Given the description of an element on the screen output the (x, y) to click on. 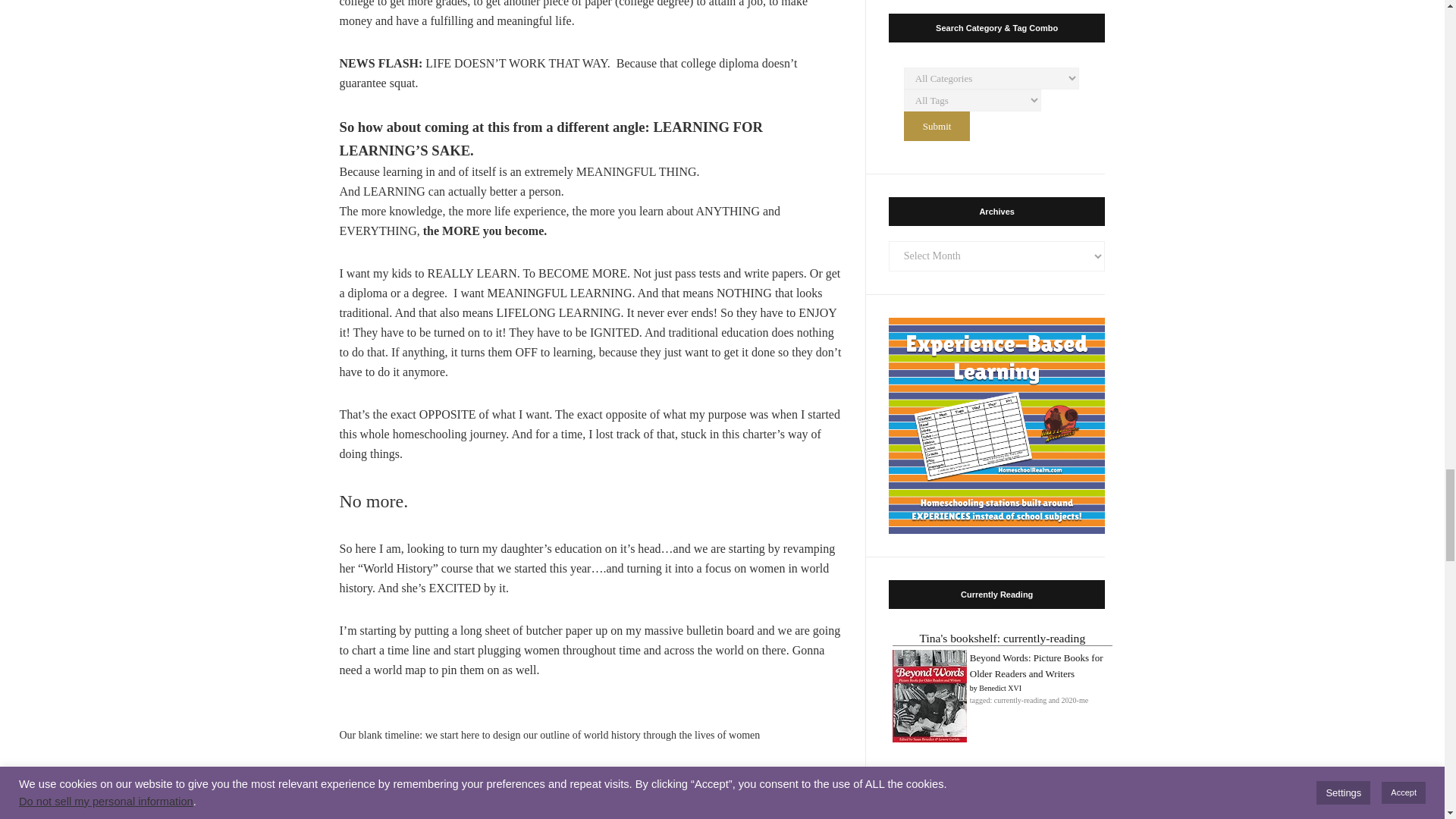
Submit (937, 125)
